Given the description of an element on the screen output the (x, y) to click on. 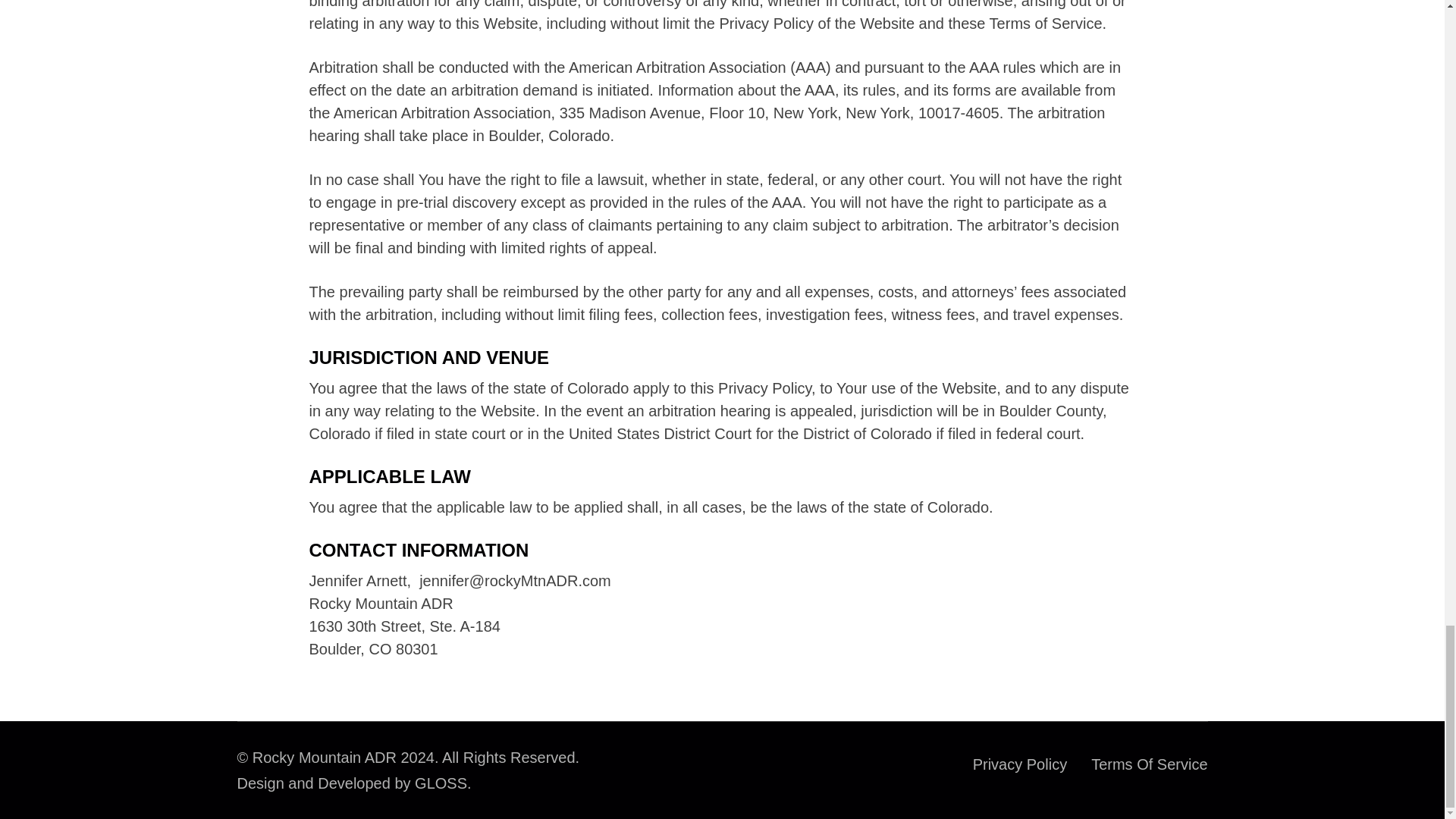
Terms Of Service (1148, 764)
Privacy Policy (1019, 764)
GLOSS (440, 782)
